Given the description of an element on the screen output the (x, y) to click on. 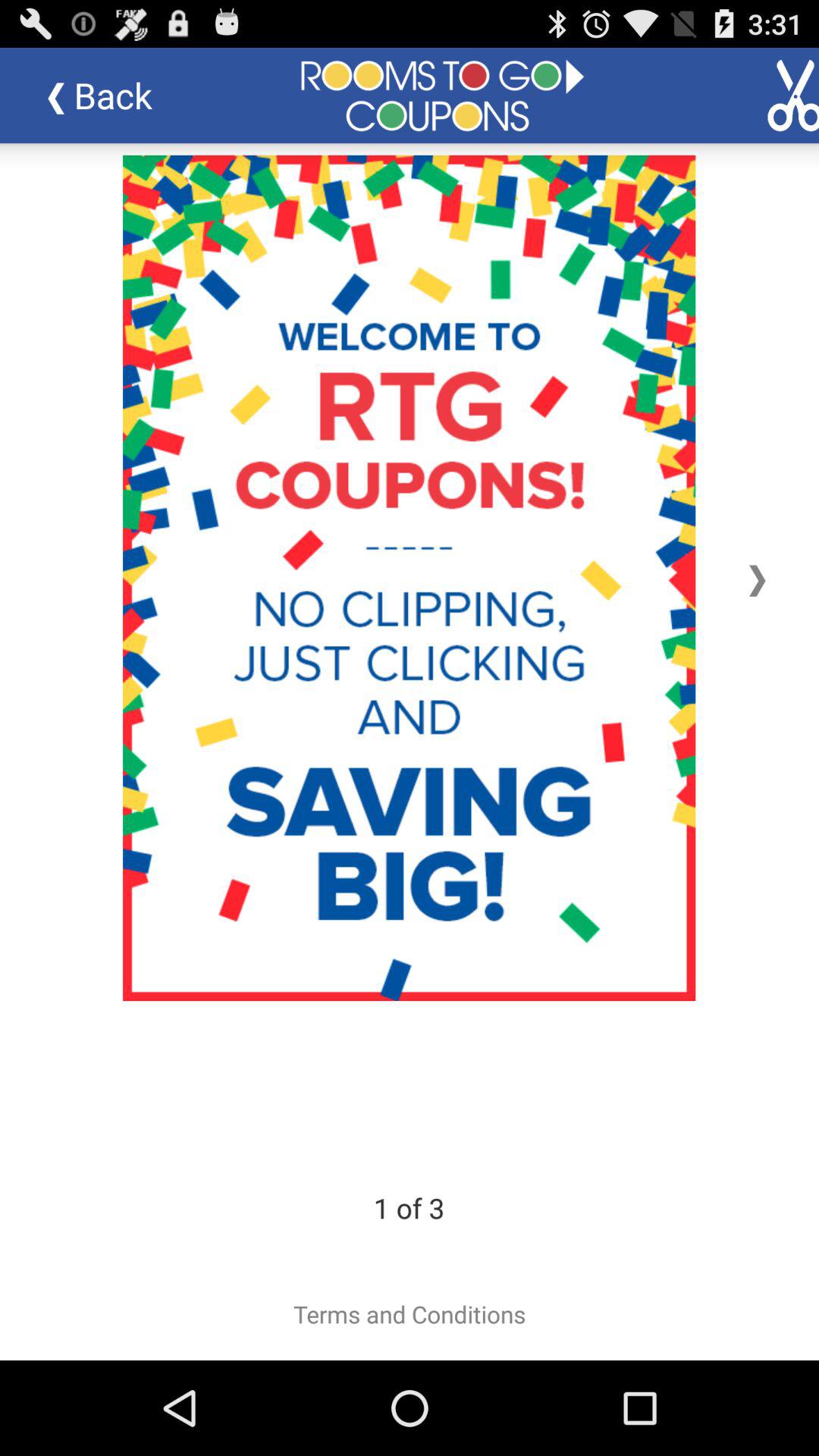
choose item below 2 of 3 item (409, 1313)
